Given the description of an element on the screen output the (x, y) to click on. 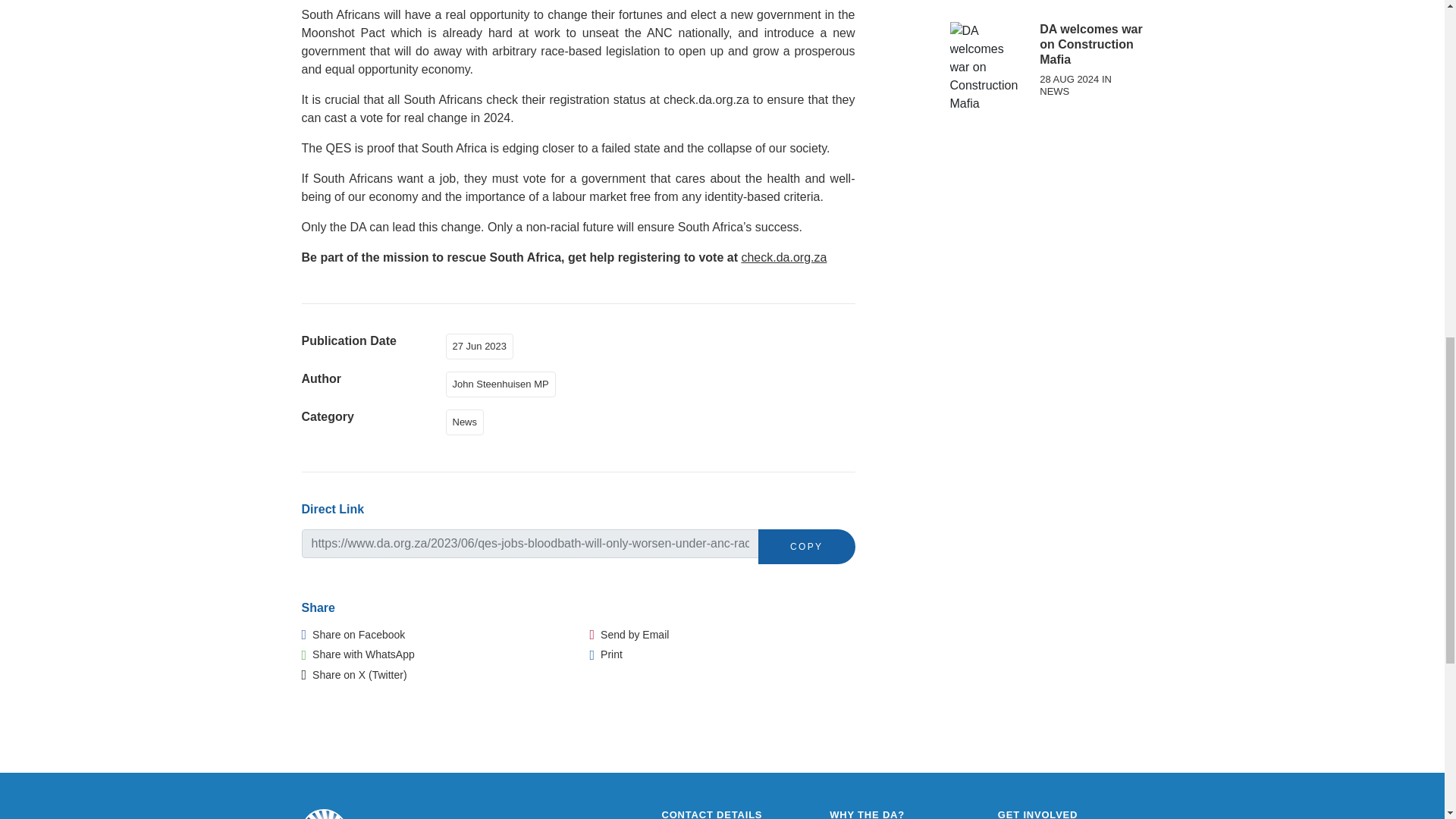
News (467, 420)
check.da.org.za (784, 256)
Share on Facebook (353, 634)
COPY (807, 546)
Share with WhatsApp (357, 653)
Democratic Alliance Logo (350, 814)
